Given the description of an element on the screen output the (x, y) to click on. 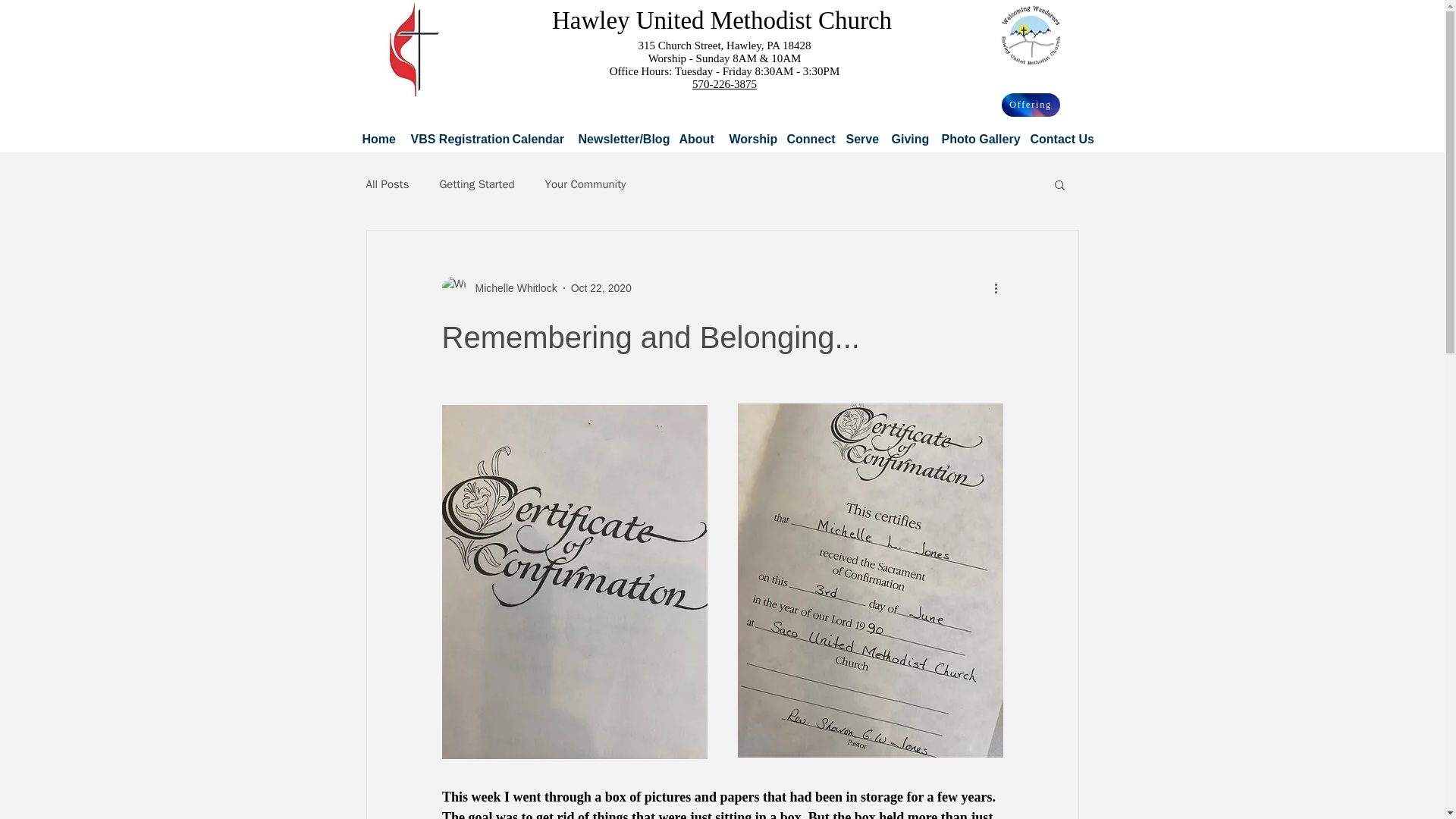
Giving (907, 139)
Home (377, 139)
Michelle Whitlock (498, 288)
Michelle Whitlock (510, 288)
Photo Gallery (977, 139)
Calendar (536, 139)
Getting Started (476, 184)
Your Community (585, 184)
Worship (748, 139)
Hawley United Methodist Church (721, 20)
570-226-3875 (725, 83)
About (694, 139)
Serve (859, 139)
Offering (1030, 105)
Connect (807, 139)
